Given the description of an element on the screen output the (x, y) to click on. 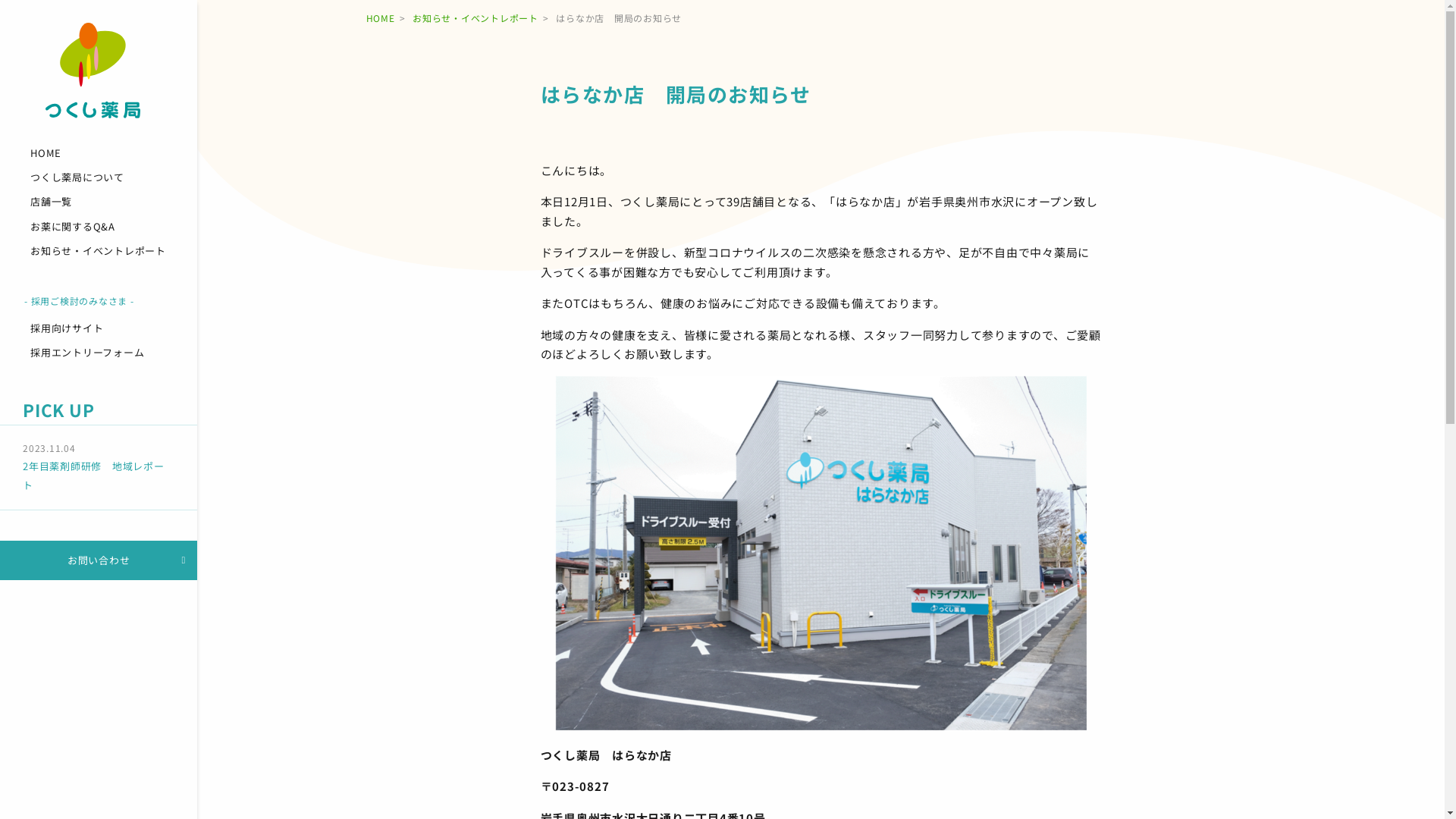
HOME Element type: text (98, 153)
HOME Element type: text (379, 17)
